Given the description of an element on the screen output the (x, y) to click on. 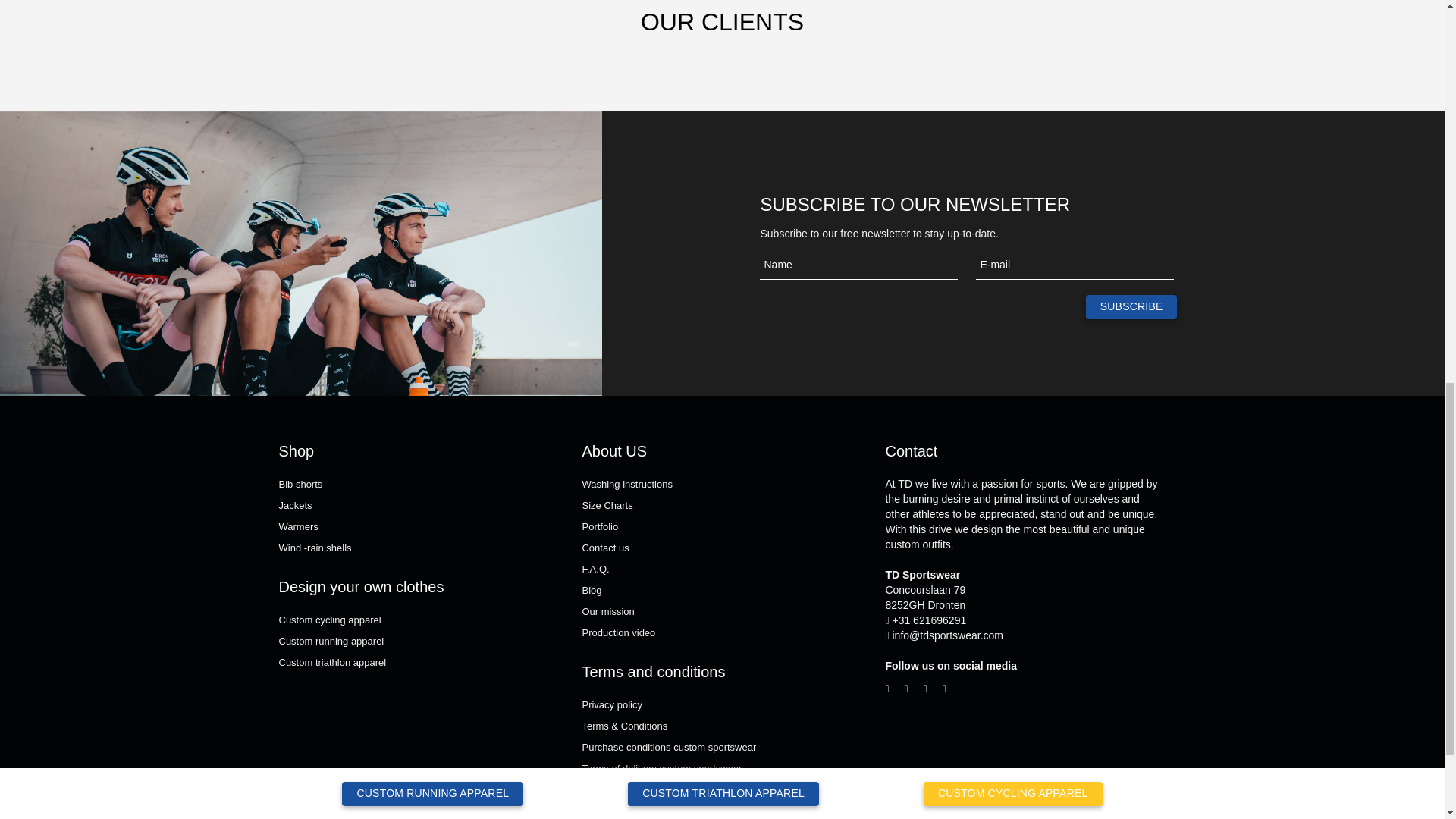
Subscribe (1131, 306)
